Given the description of an element on the screen output the (x, y) to click on. 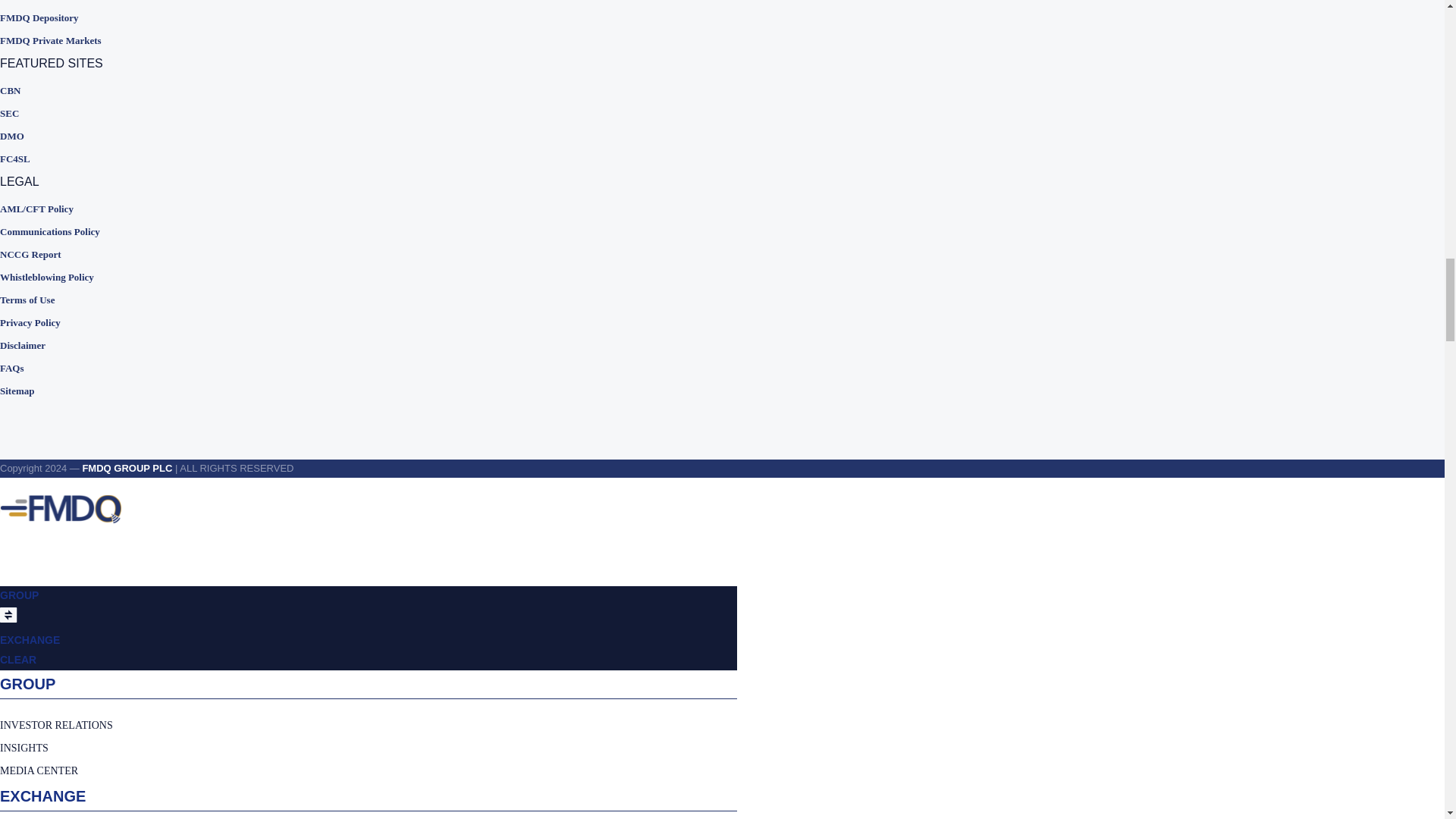
FMDQ Clear (79, 3)
